Given the description of an element on the screen output the (x, y) to click on. 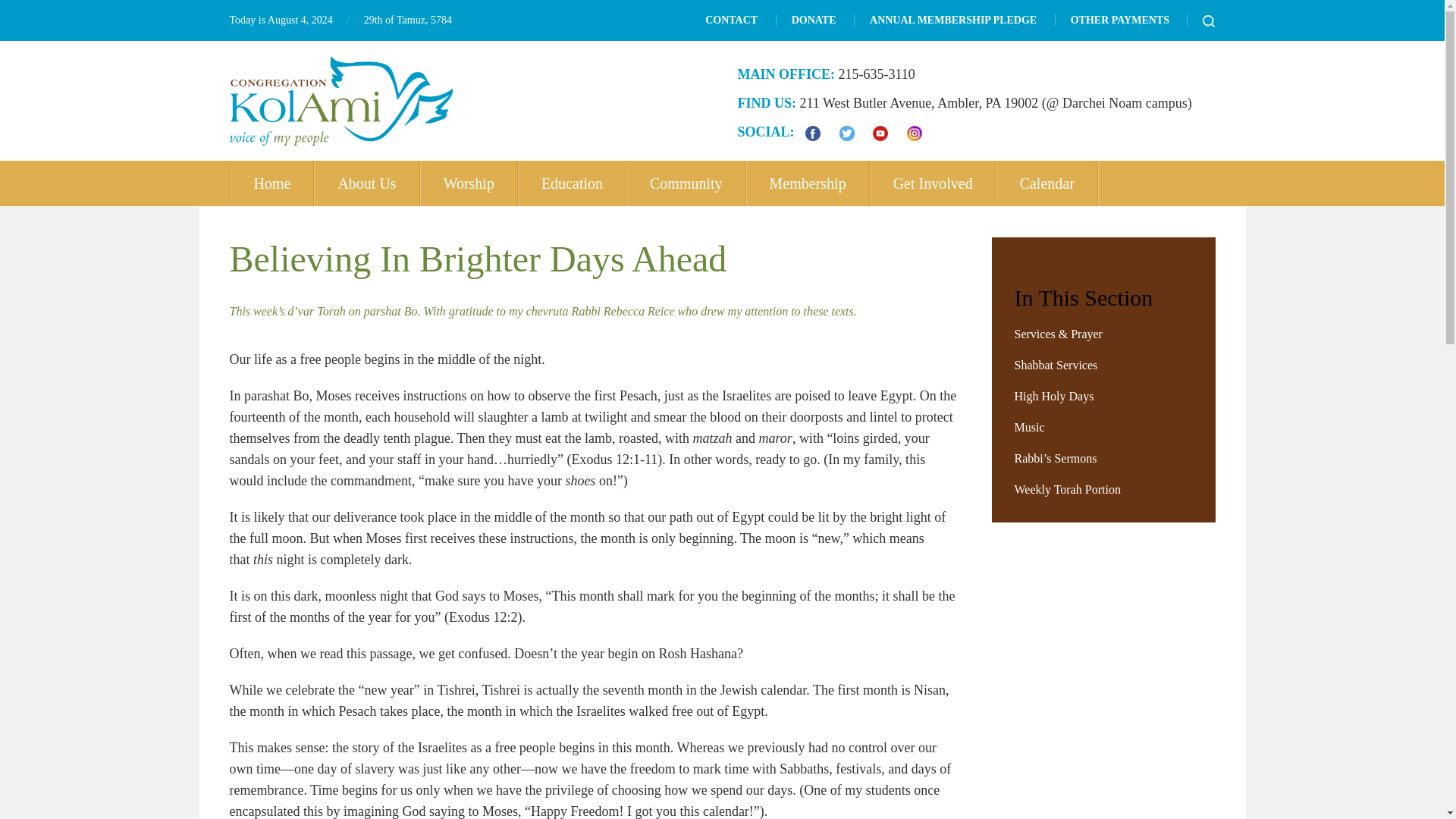
About Us (367, 183)
Home (272, 183)
Membership (808, 183)
About Us (367, 183)
DONATE (813, 19)
Worship (469, 183)
ANNUAL MEMBERSHIP PLEDGE (952, 19)
Community (686, 183)
Worship (469, 183)
Return to the homepage (340, 100)
